Given the description of an element on the screen output the (x, y) to click on. 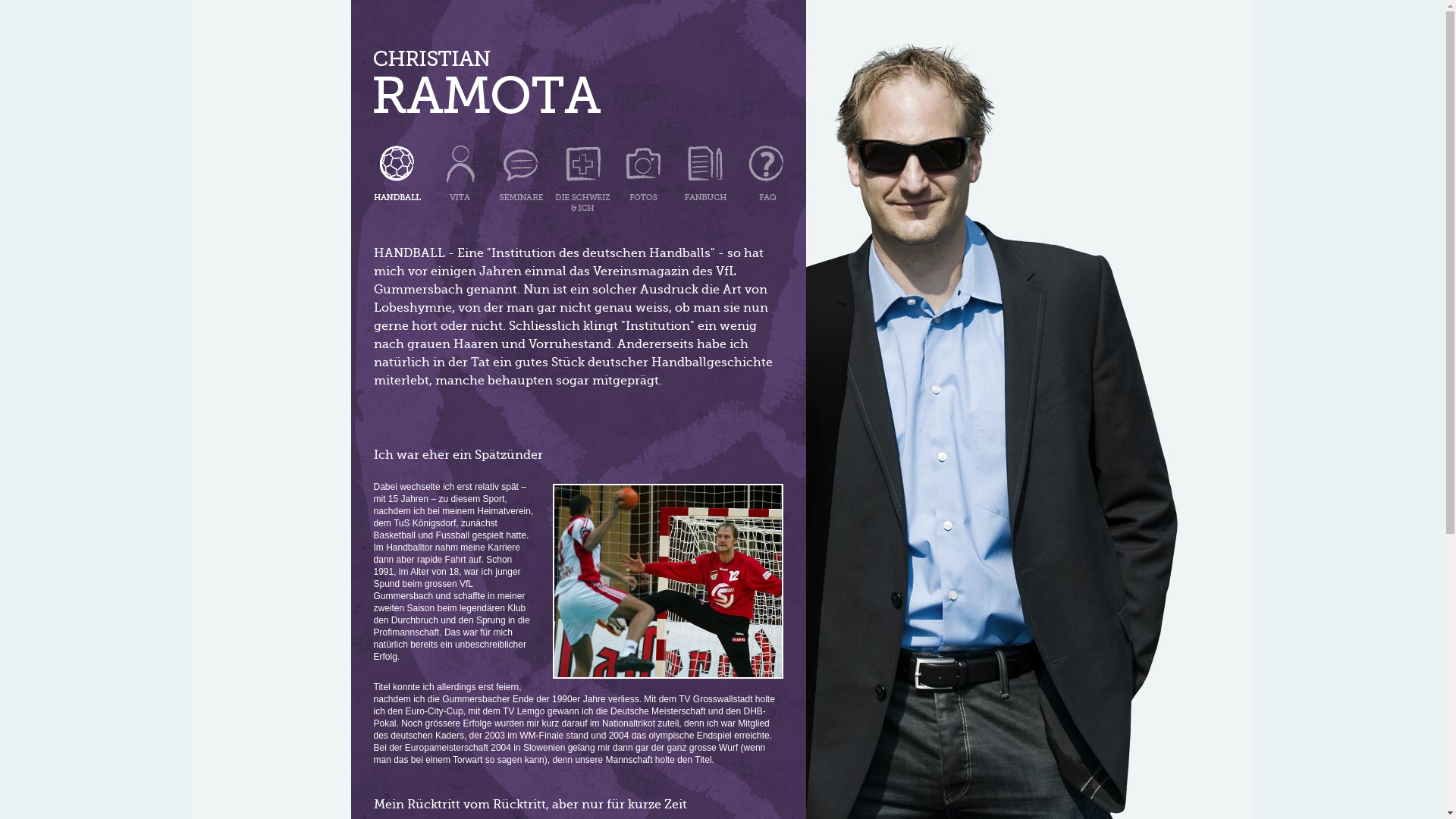
  Element type: text (486, 86)
  Element type: text (518, 167)
  Element type: text (704, 167)
  Element type: text (583, 167)
  Element type: text (759, 167)
  Element type: text (461, 167)
Handball WM Deutschland - Tunesien Element type: hover (667, 580)
  Element type: text (645, 167)
